Given the description of an element on the screen output the (x, y) to click on. 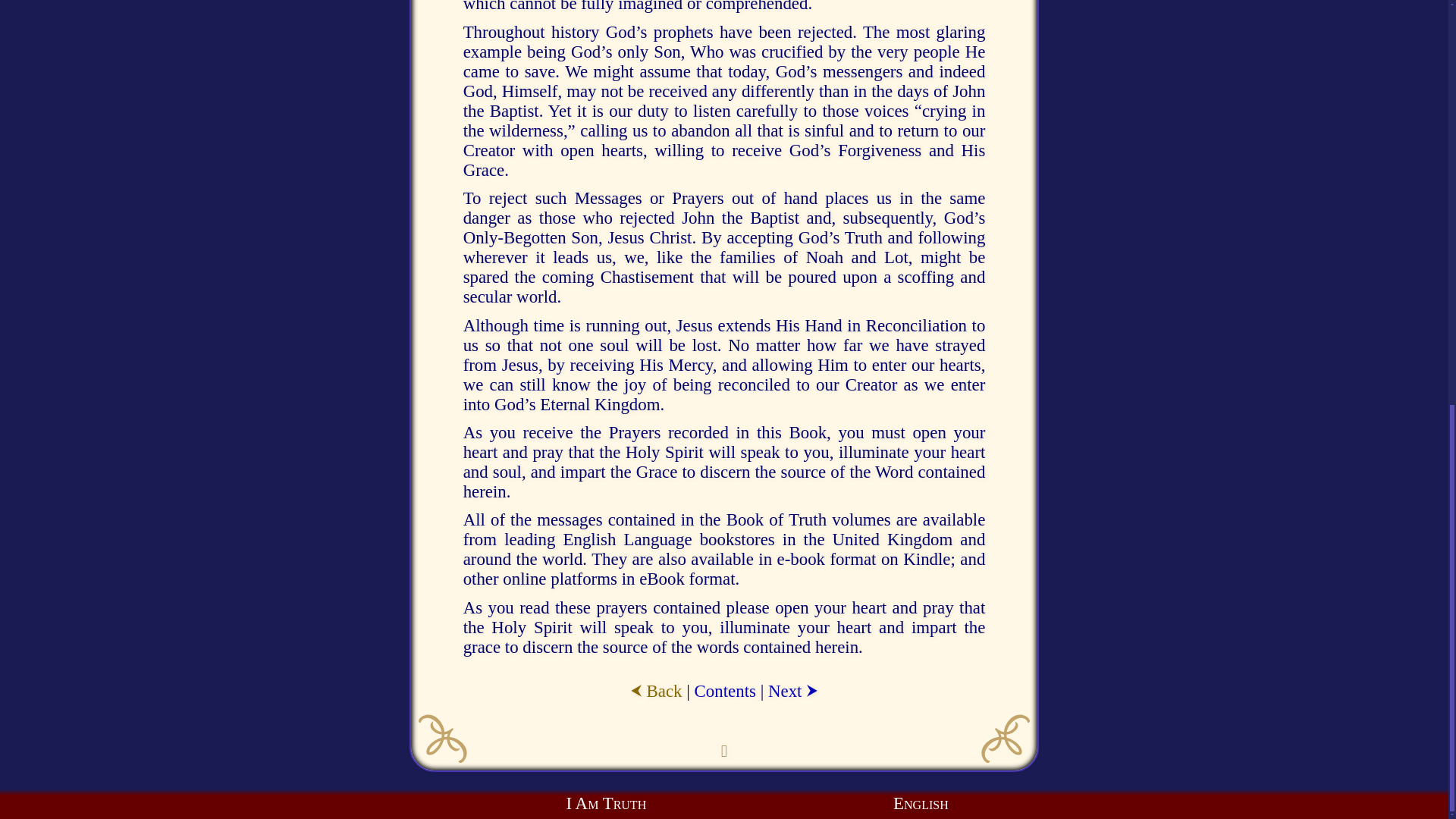
Contents (724, 691)
